Given the description of an element on the screen output the (x, y) to click on. 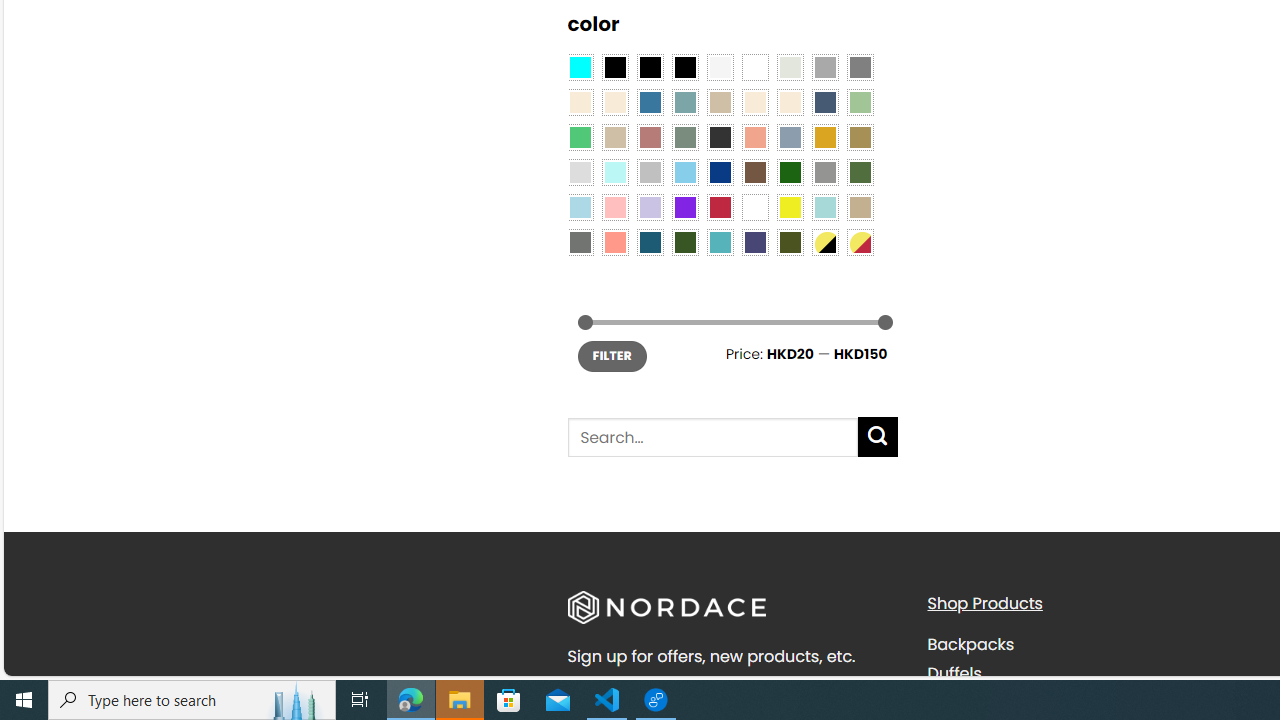
Yellow (789, 208)
Emerald Green (579, 138)
Purple (684, 208)
Kelp (859, 138)
Brown (755, 172)
Yellow-Red (859, 242)
Dark Gray (824, 67)
Yellow-Black (824, 242)
Brownie (719, 102)
Pink (614, 208)
Light Blue (579, 208)
Mint (614, 172)
Cream (789, 102)
Navy Blue (719, 172)
Capri Blue (650, 242)
